Given the description of an element on the screen output the (x, y) to click on. 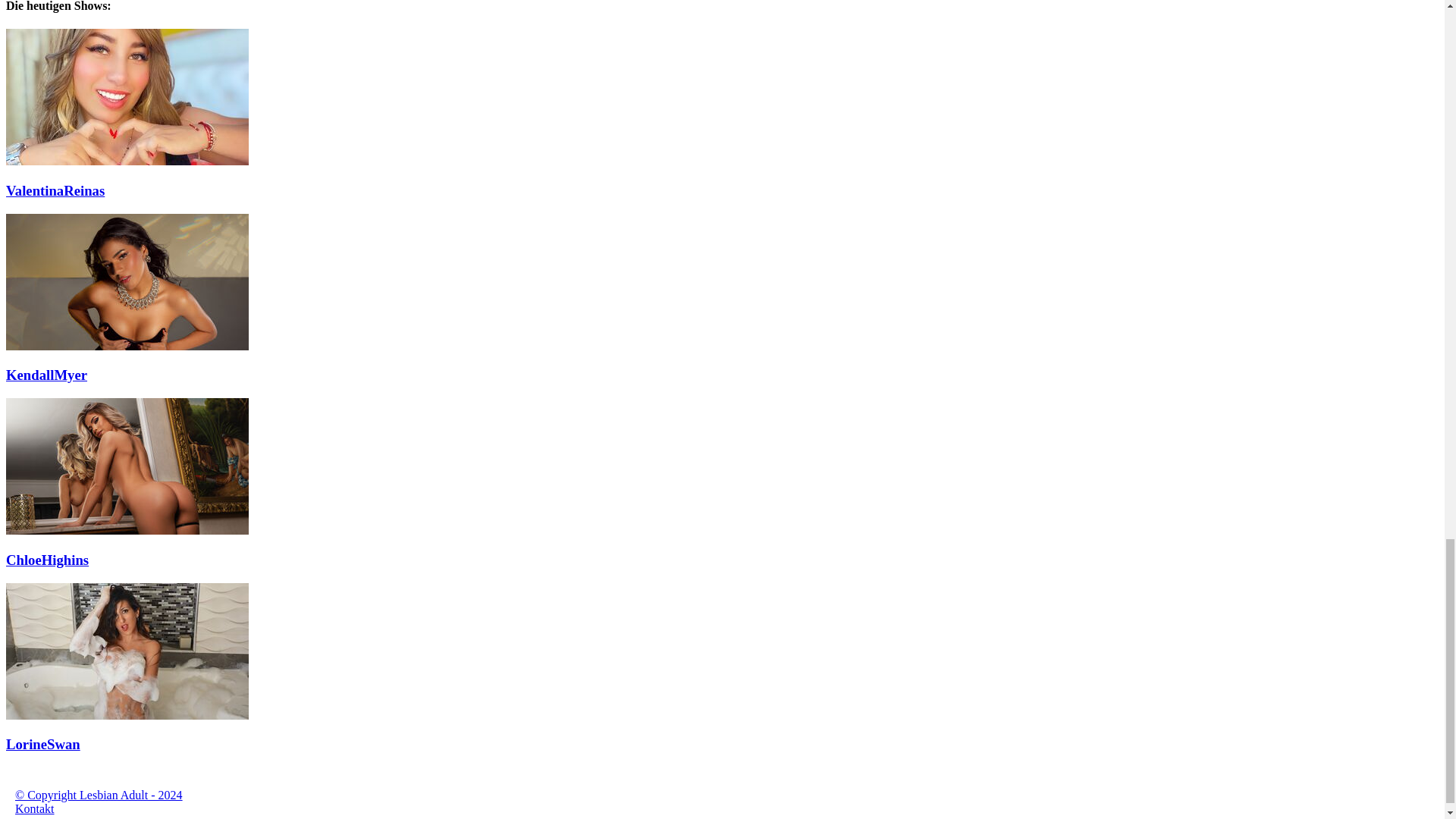
ValentinaReinas webcam show (126, 160)
KendallMyer webcam show (126, 345)
